Given the description of an element on the screen output the (x, y) to click on. 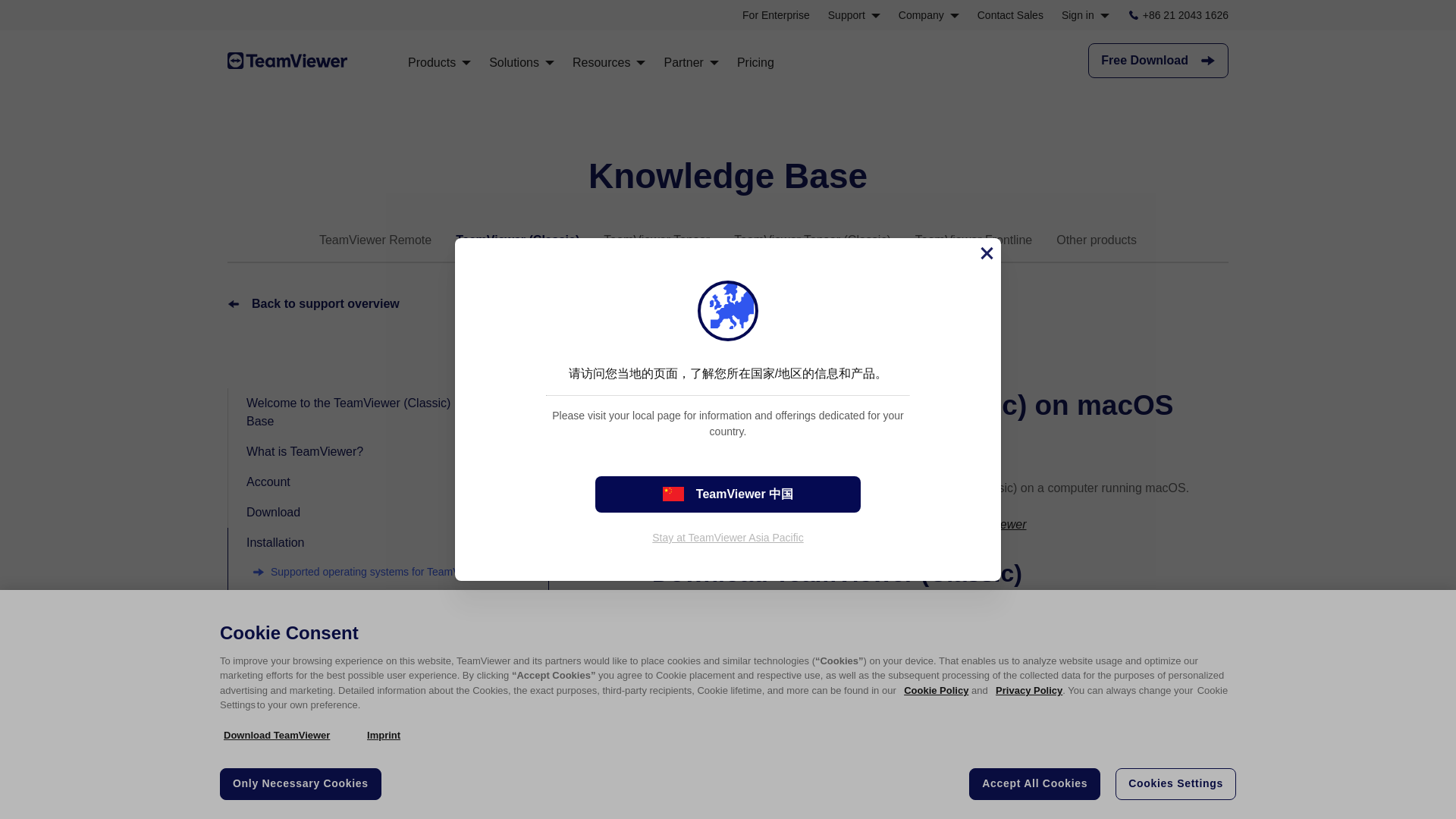
Sign in (1085, 15)
Support (854, 15)
Company (928, 15)
Products (438, 62)
Contact Sales (1009, 15)
For Enterprise (775, 15)
Stay at TeamViewer Asia Pacific (727, 537)
